Given the description of an element on the screen output the (x, y) to click on. 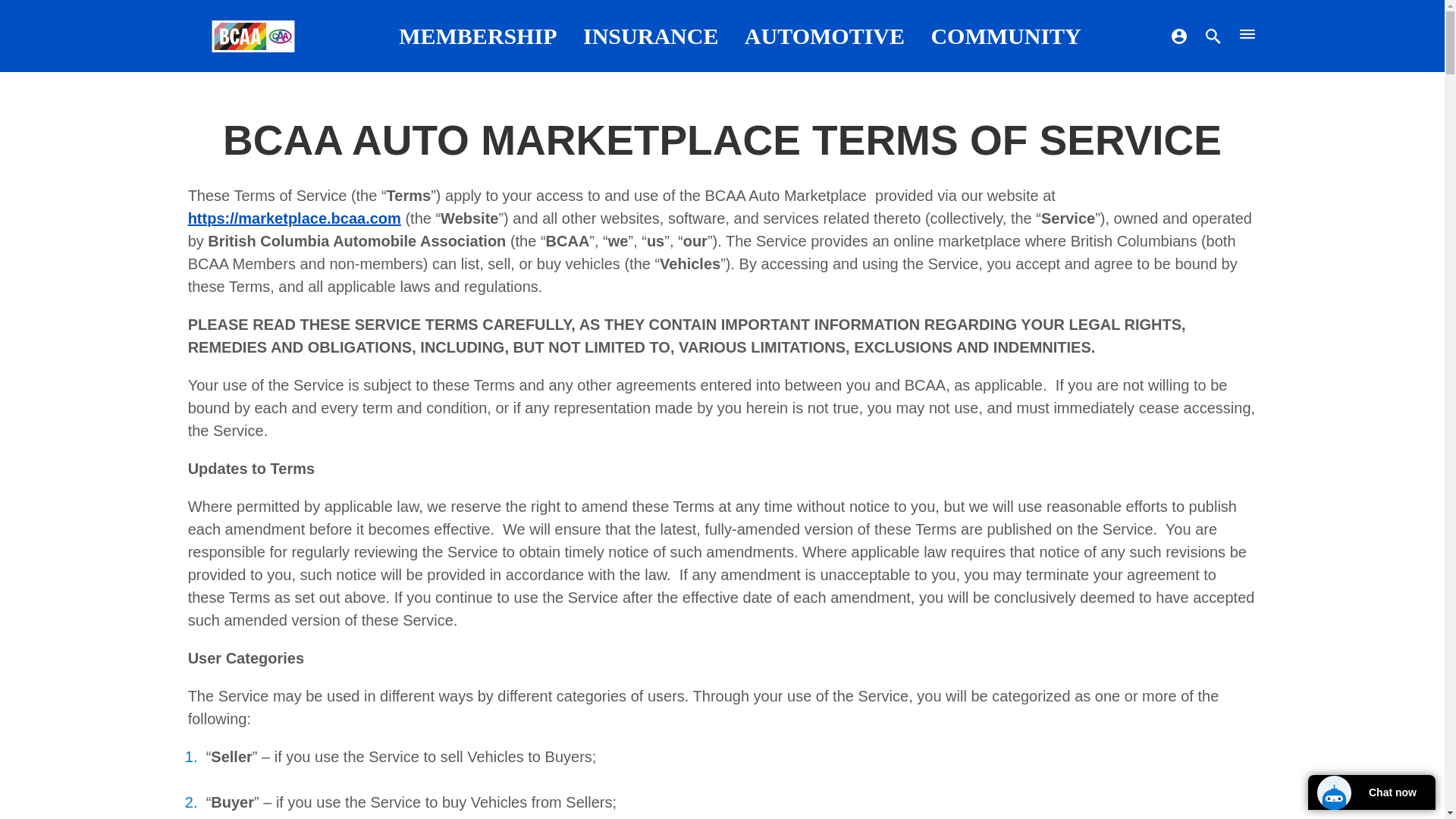
INSURANCE (650, 35)
COMMUNITY (1005, 35)
AUTOMOTIVE (824, 35)
MEMBERSHIP (477, 35)
